Given the description of an element on the screen output the (x, y) to click on. 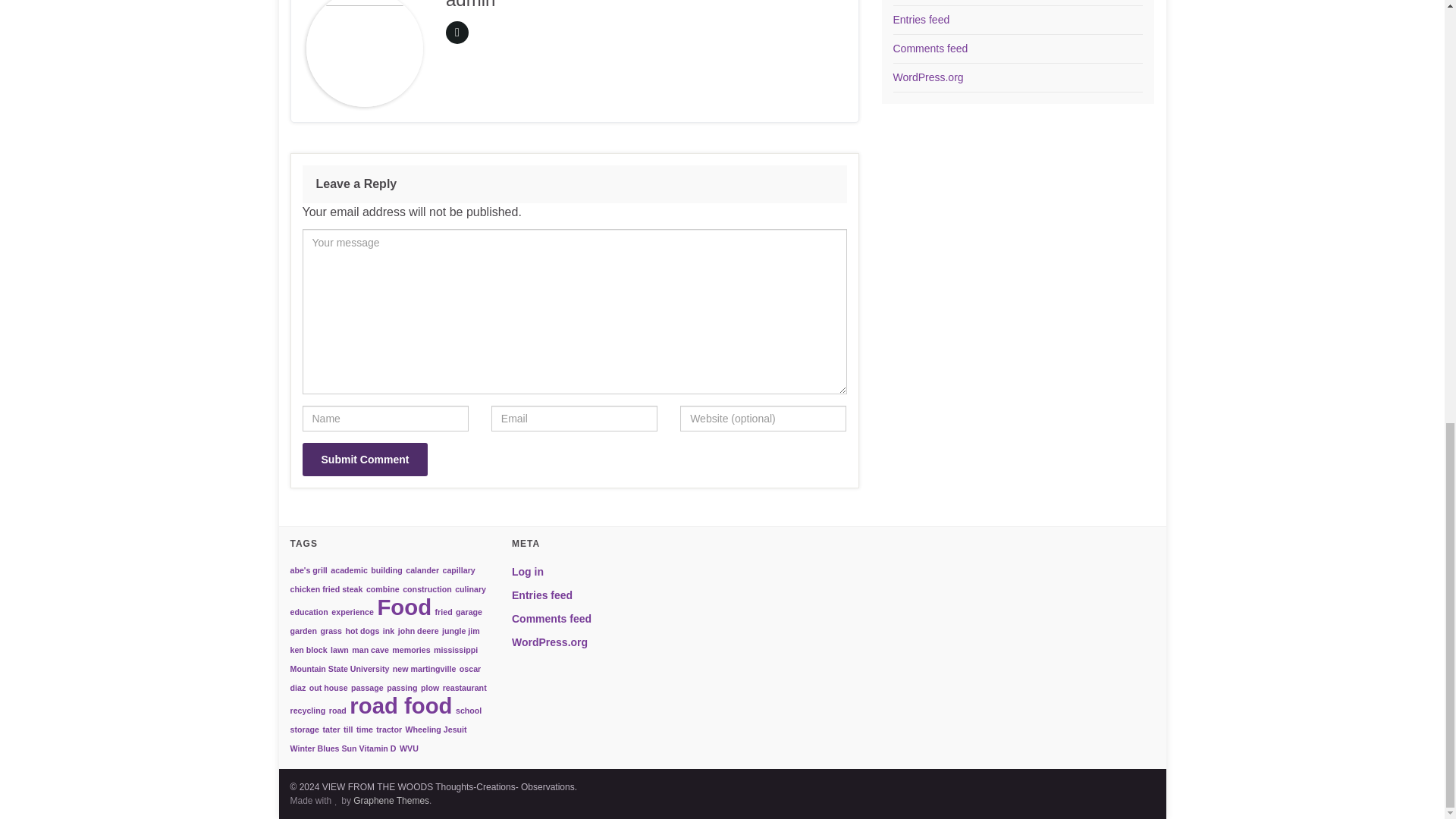
Submit Comment (364, 459)
Submit Comment (364, 459)
Comments feed (930, 48)
Entries feed (921, 19)
